Given the description of an element on the screen output the (x, y) to click on. 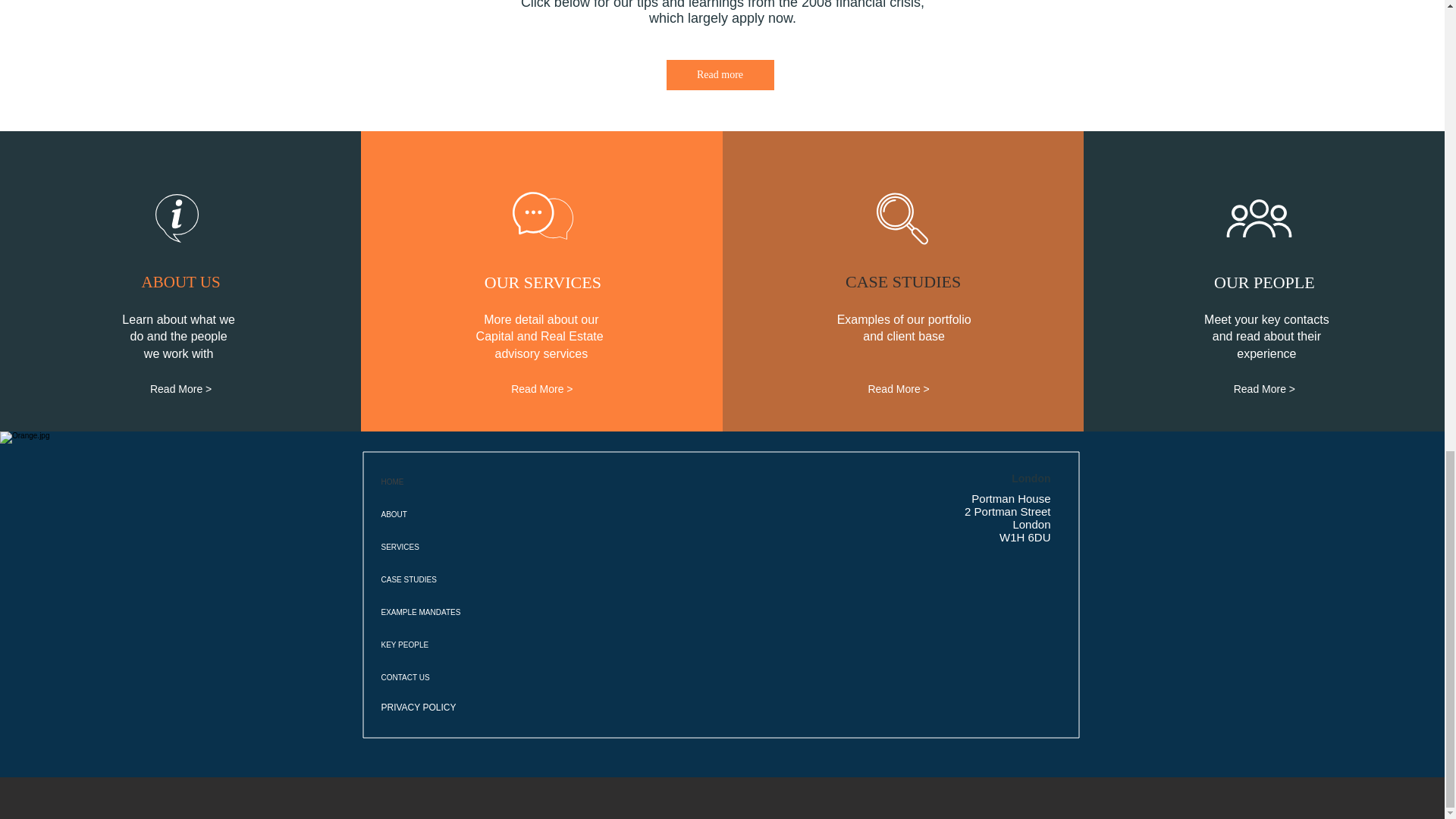
ABOUT (498, 513)
EXAMPLE MANDATES (498, 612)
PRIVACY POLICY (422, 707)
SERVICES (498, 546)
KEY PEOPLE (498, 644)
CONTACT US (498, 676)
CASE STUDIES (902, 282)
OUR PEOPLE (1263, 283)
HOME (498, 481)
Read more (719, 74)
ABOUT US (180, 282)
CASE STUDIES (498, 579)
OUR SERVICES (542, 283)
